Given the description of an element on the screen output the (x, y) to click on. 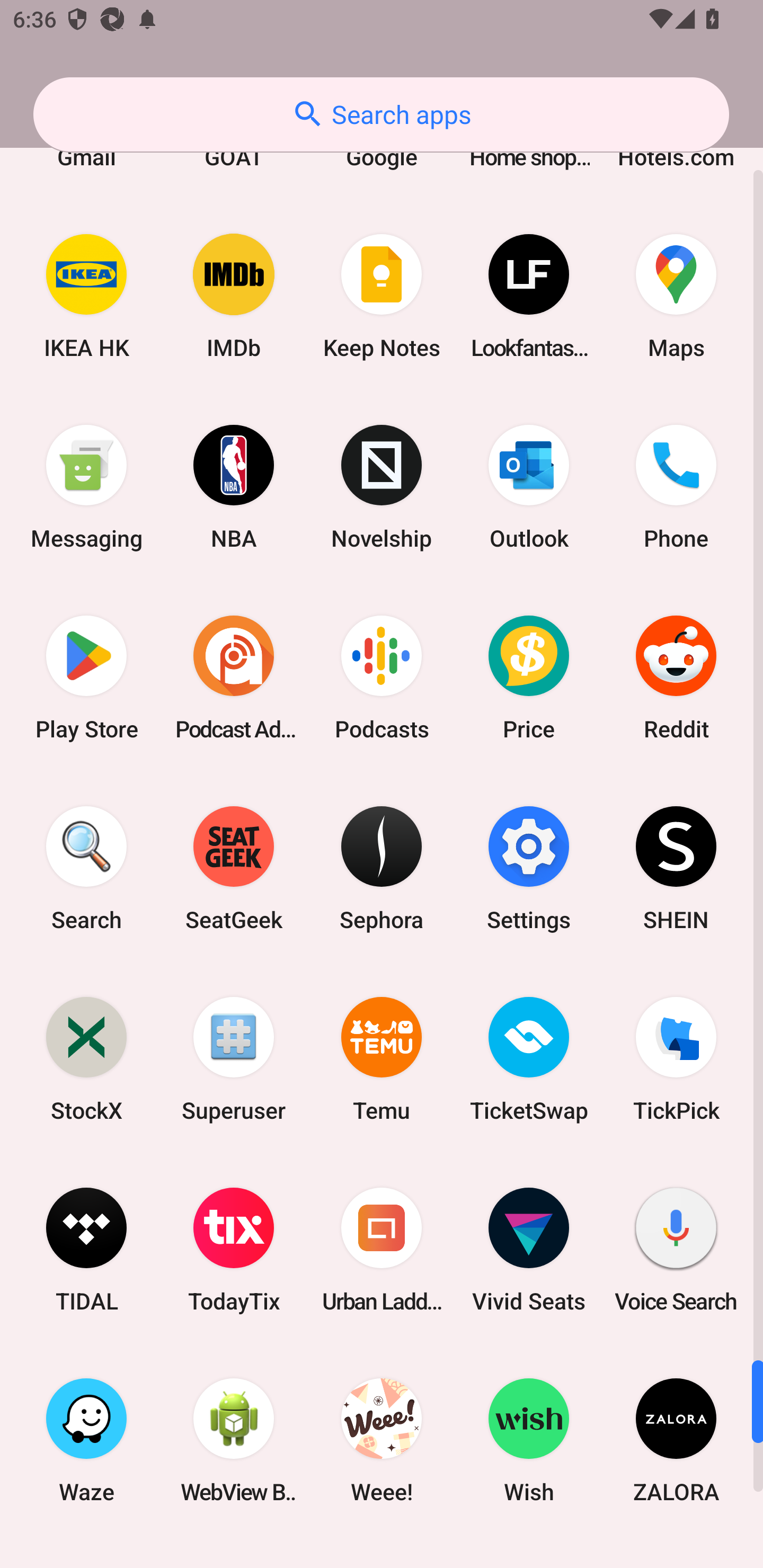
  Search apps (381, 114)
IKEA HK (86, 296)
IMDb (233, 296)
Keep Notes (381, 296)
Lookfantastic (528, 296)
Maps (676, 296)
Messaging (86, 486)
NBA (233, 486)
Novelship (381, 486)
Outlook (528, 486)
Phone (676, 486)
Play Store (86, 677)
Podcast Addict (233, 677)
Podcasts (381, 677)
Price (528, 677)
Reddit (676, 677)
Search (86, 868)
SeatGeek (233, 868)
Sephora (381, 868)
Settings (528, 868)
SHEIN (676, 868)
StockX (86, 1059)
Superuser (233, 1059)
Temu (381, 1059)
TicketSwap (528, 1059)
TickPick (676, 1059)
TIDAL (86, 1249)
TodayTix (233, 1249)
Urban Ladder (381, 1249)
Vivid Seats (528, 1249)
Voice Search (676, 1249)
Waze (86, 1440)
WebView Browser Tester (233, 1440)
Weee! (381, 1440)
Wish (528, 1440)
ZALORA (676, 1440)
